Given the description of an element on the screen output the (x, y) to click on. 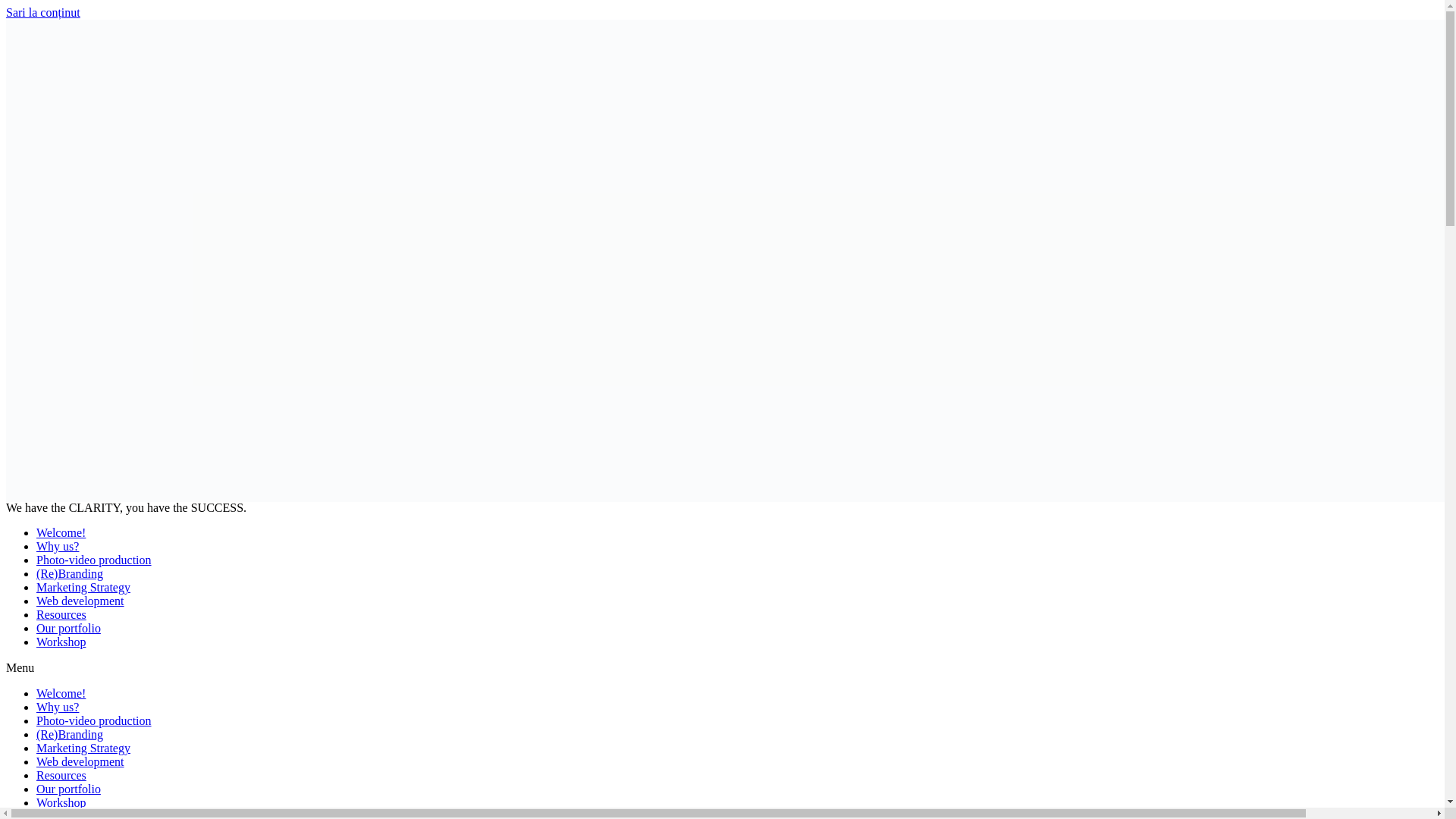
Welcome! (60, 693)
Workshop (60, 802)
Our portfolio (68, 788)
Marketing Strategy (83, 748)
Web development (79, 761)
Web development (79, 600)
Welcome! (60, 532)
Resources (60, 775)
Our portfolio (68, 627)
Photo-video production (93, 720)
